Given the description of an element on the screen output the (x, y) to click on. 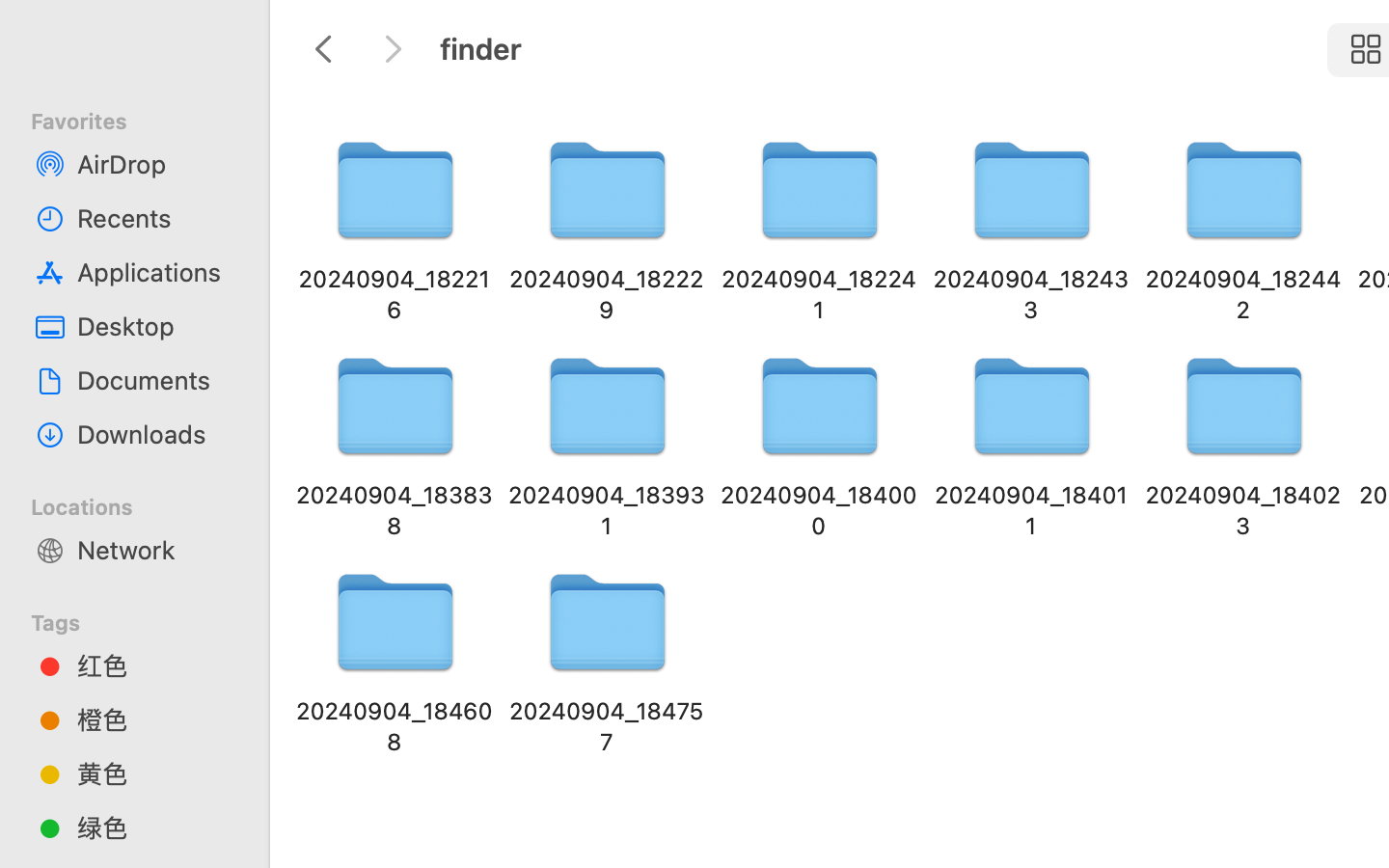
Favorites Element type: AXStaticText (145, 118)
Applications Element type: AXStaticText (155, 271)
黄色 Element type: AXStaticText (155, 773)
橙色 Element type: AXStaticText (155, 719)
Network Element type: AXStaticText (155, 549)
